Given the description of an element on the screen output the (x, y) to click on. 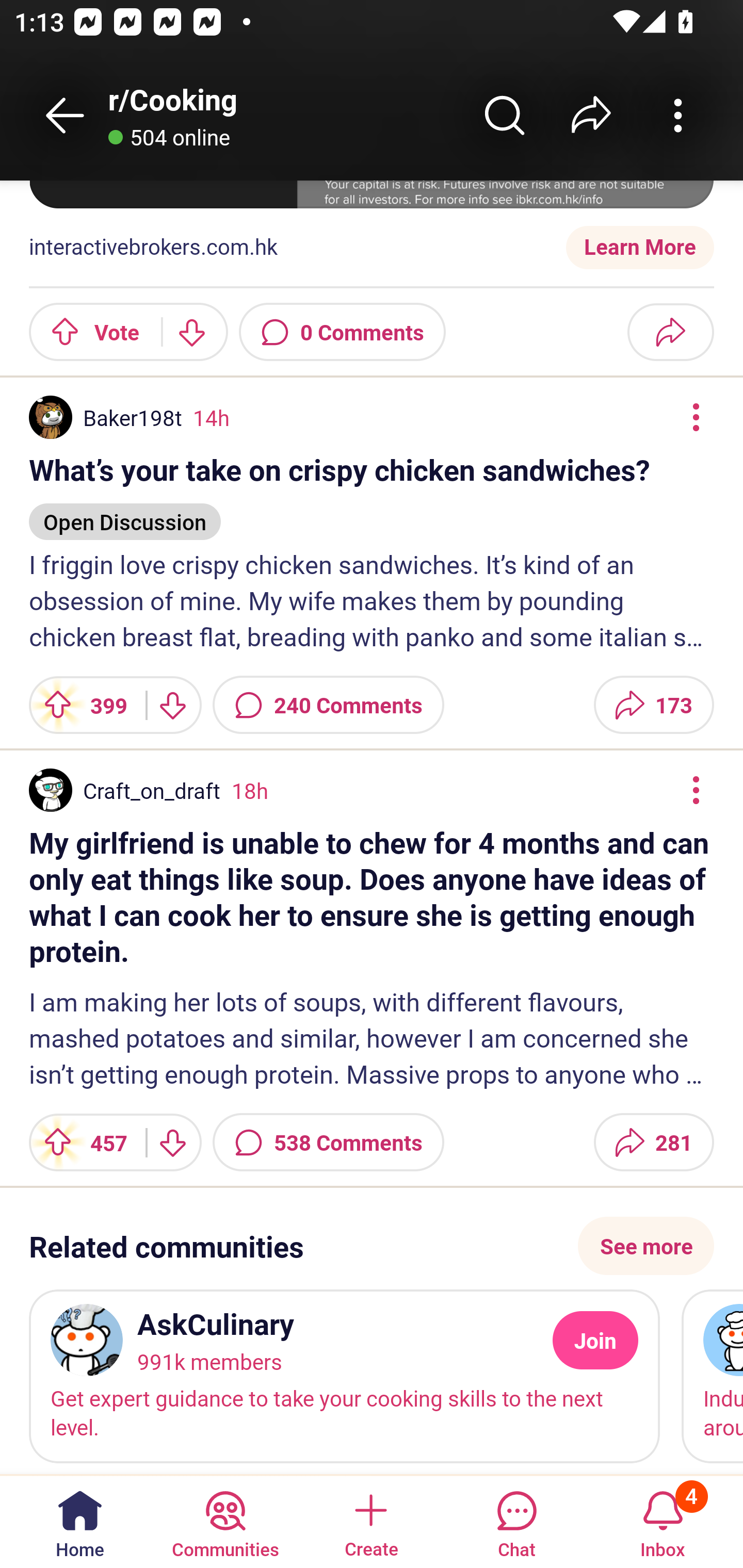
Back (64, 115)
Search r/﻿Cooking (504, 115)
Share r/﻿Cooking (591, 115)
More community actions (677, 115)
Open Discussion (124, 512)
Related communities See more (371, 1245)
See more (646, 1245)
Join (595, 1340)
Home (80, 1520)
Communities (225, 1520)
Create a post Create (370, 1520)
Chat (516, 1520)
Inbox, has 4 notifications 4 Inbox (662, 1520)
